Given the description of an element on the screen output the (x, y) to click on. 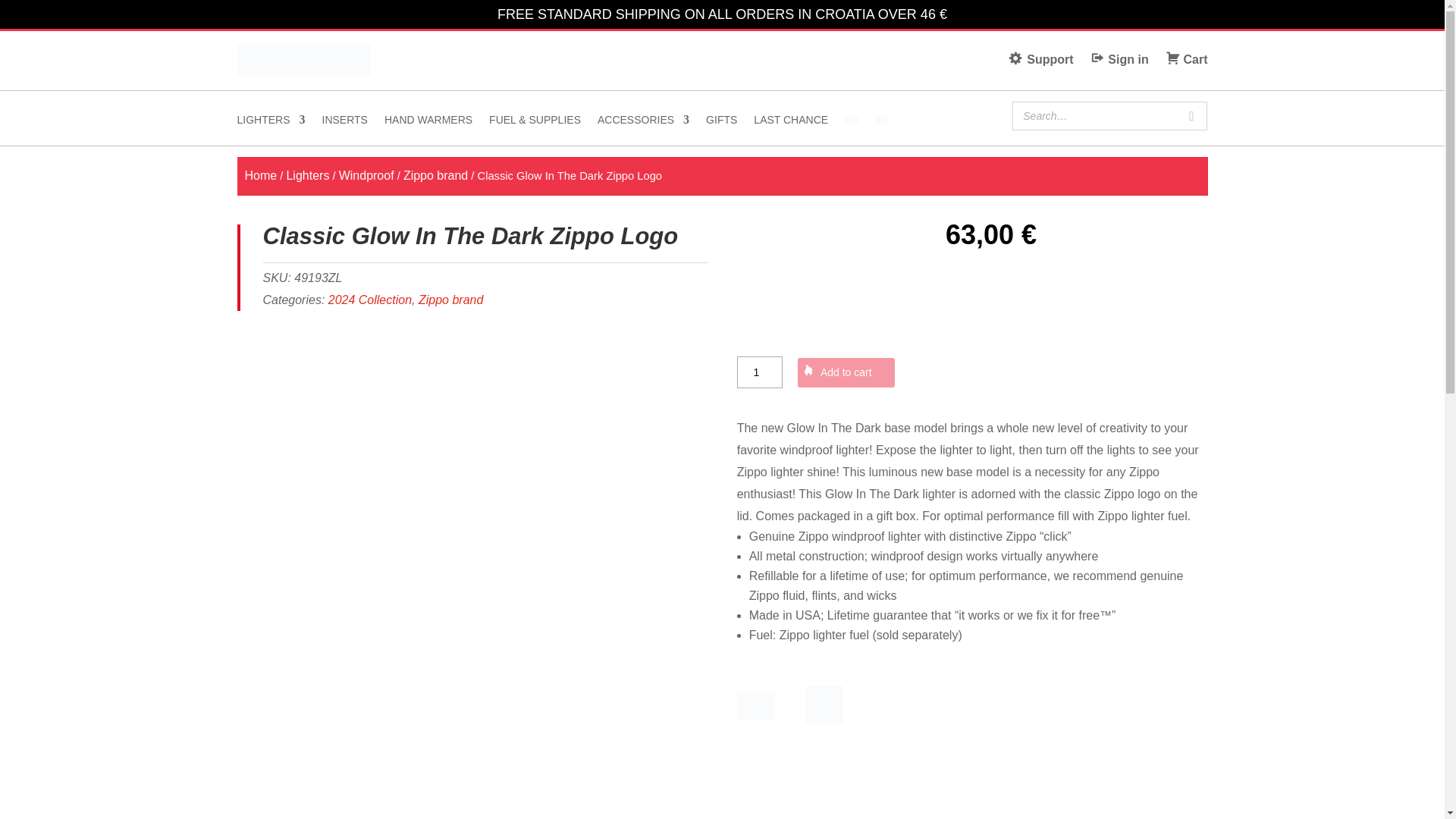
LAST CHANCE (791, 122)
INSERTS (344, 122)
LIGHTERS (269, 122)
Support (1041, 59)
HAND WARMERS (427, 122)
GIFTS (721, 122)
ACCESSORIES (642, 122)
Sign in (1119, 59)
1 (759, 372)
